Given the description of an element on the screen output the (x, y) to click on. 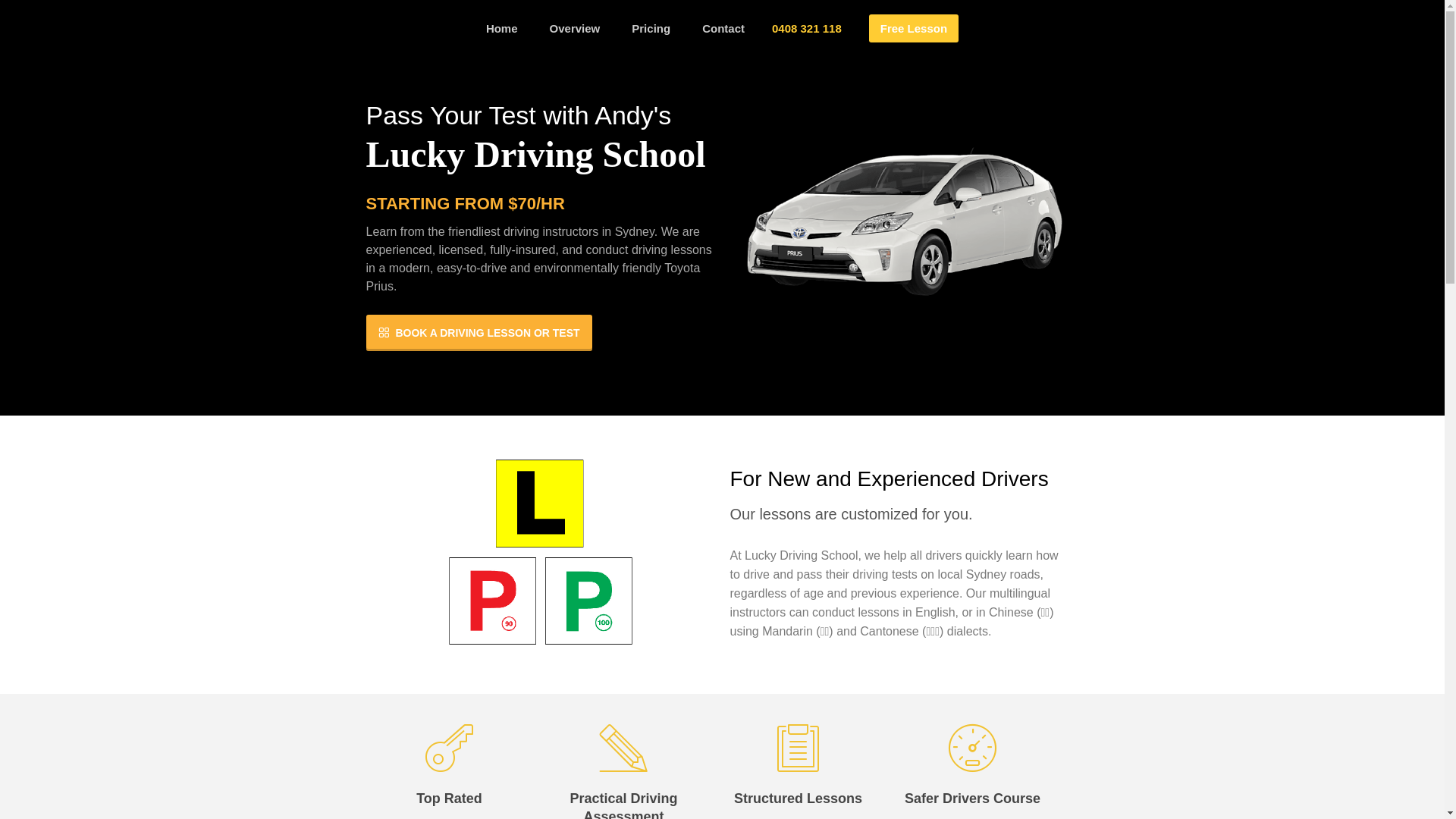
Home Element type: text (501, 28)
Overview Element type: text (574, 28)
BOOK A DRIVING LESSON OR TEST Element type: text (478, 332)
Free Lesson Element type: text (913, 28)
0408 321 118 Element type: text (806, 28)
Contact Element type: text (723, 28)
Pricing Element type: text (650, 28)
